Given the description of an element on the screen output the (x, y) to click on. 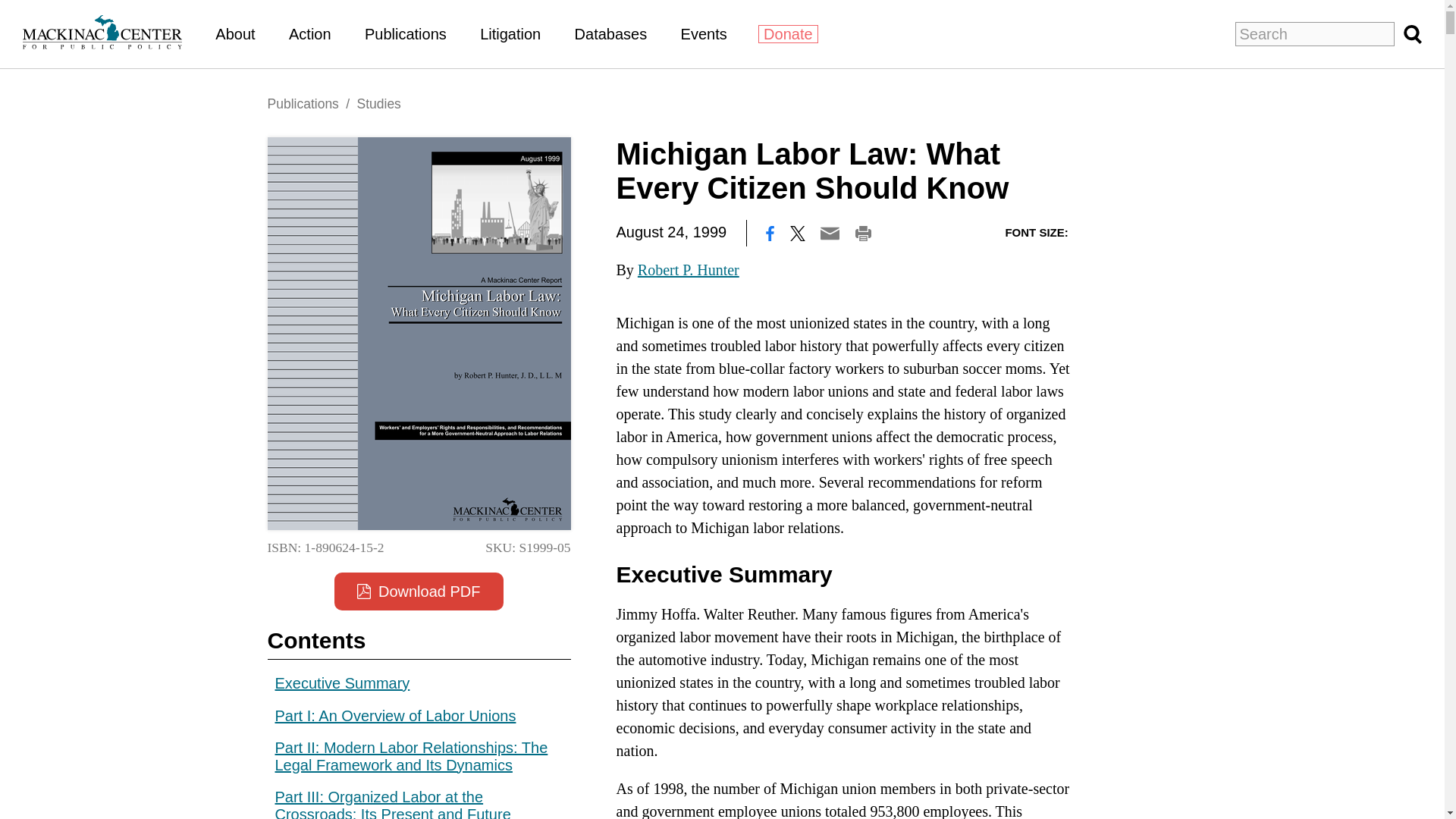
Publications (405, 33)
Donate (788, 34)
About (234, 33)
Litigation (510, 33)
Databases (611, 33)
Executive Summary (342, 682)
Robert P. Hunter (688, 269)
Part I: An Overview of Labor Unions (395, 714)
Action (309, 33)
Studies (378, 103)
